Given the description of an element on the screen output the (x, y) to click on. 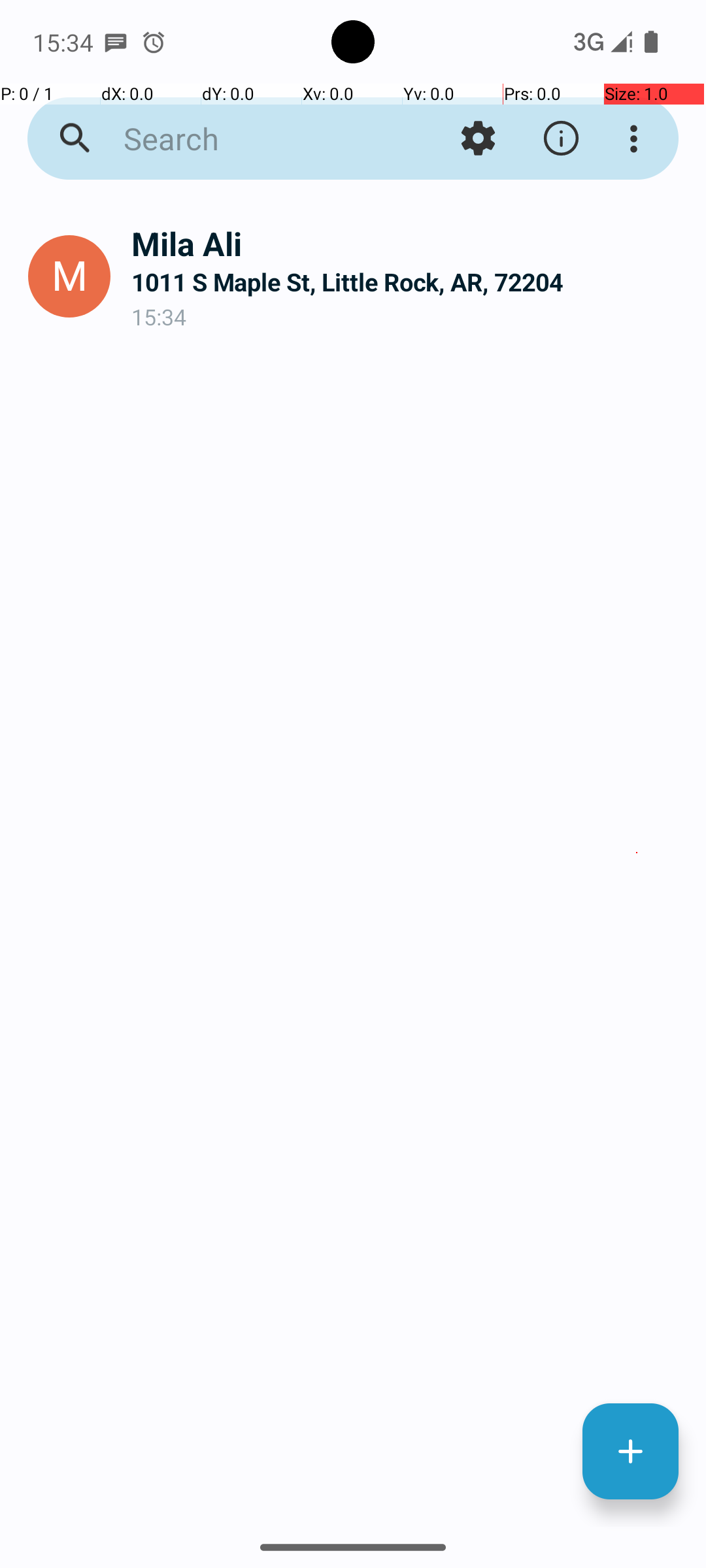
Mila Ali Element type: android.widget.TextView (408, 242)
1011 S Maple St, Little Rock, AR, 72204 Element type: android.widget.TextView (408, 281)
SMS Messenger notification: Mila Ali Element type: android.widget.ImageView (115, 41)
